Given the description of an element on the screen output the (x, y) to click on. 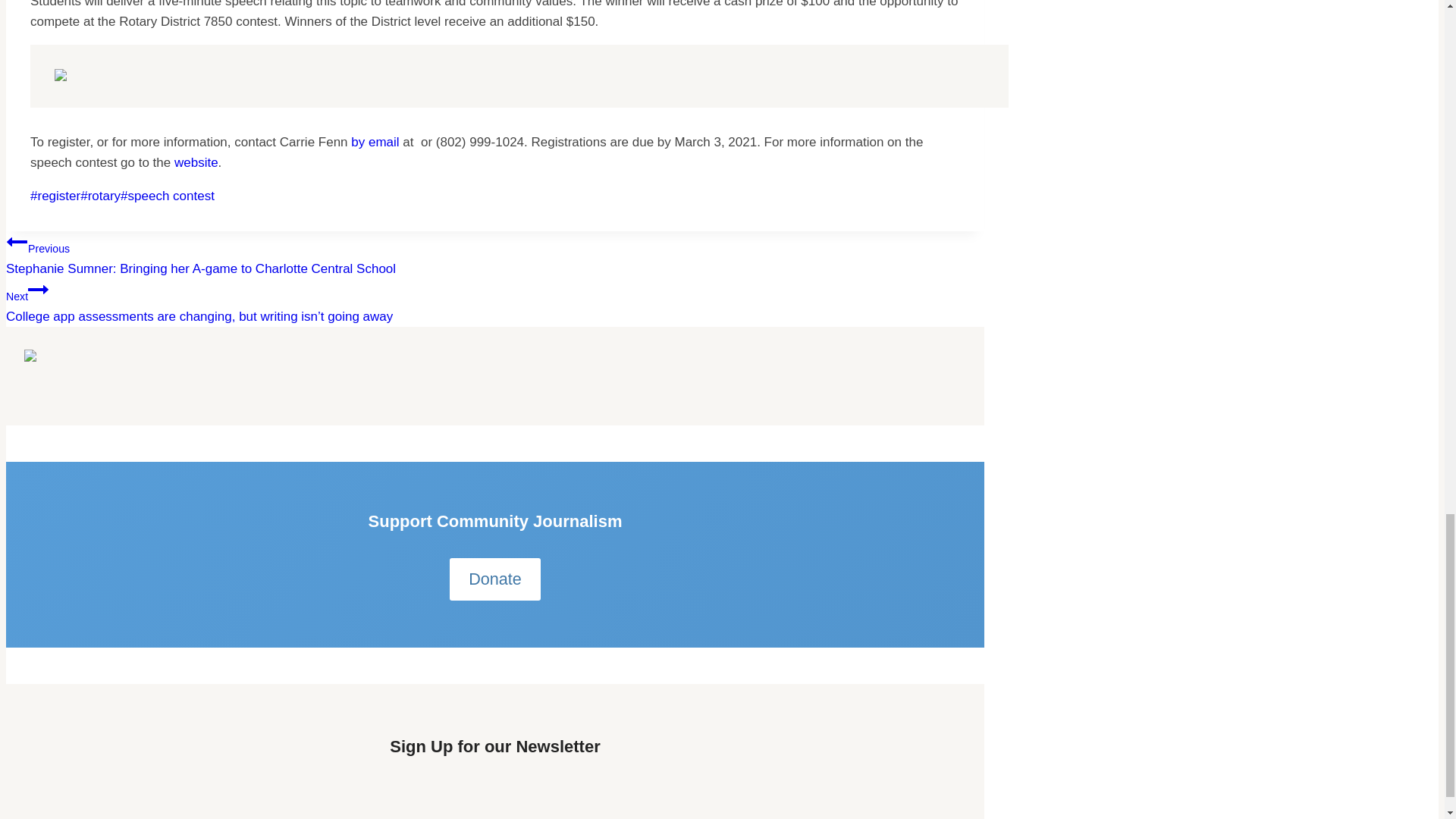
rotary (100, 196)
speech contest (167, 196)
Continue (37, 289)
register (55, 196)
Previous (16, 241)
